Given the description of an element on the screen output the (x, y) to click on. 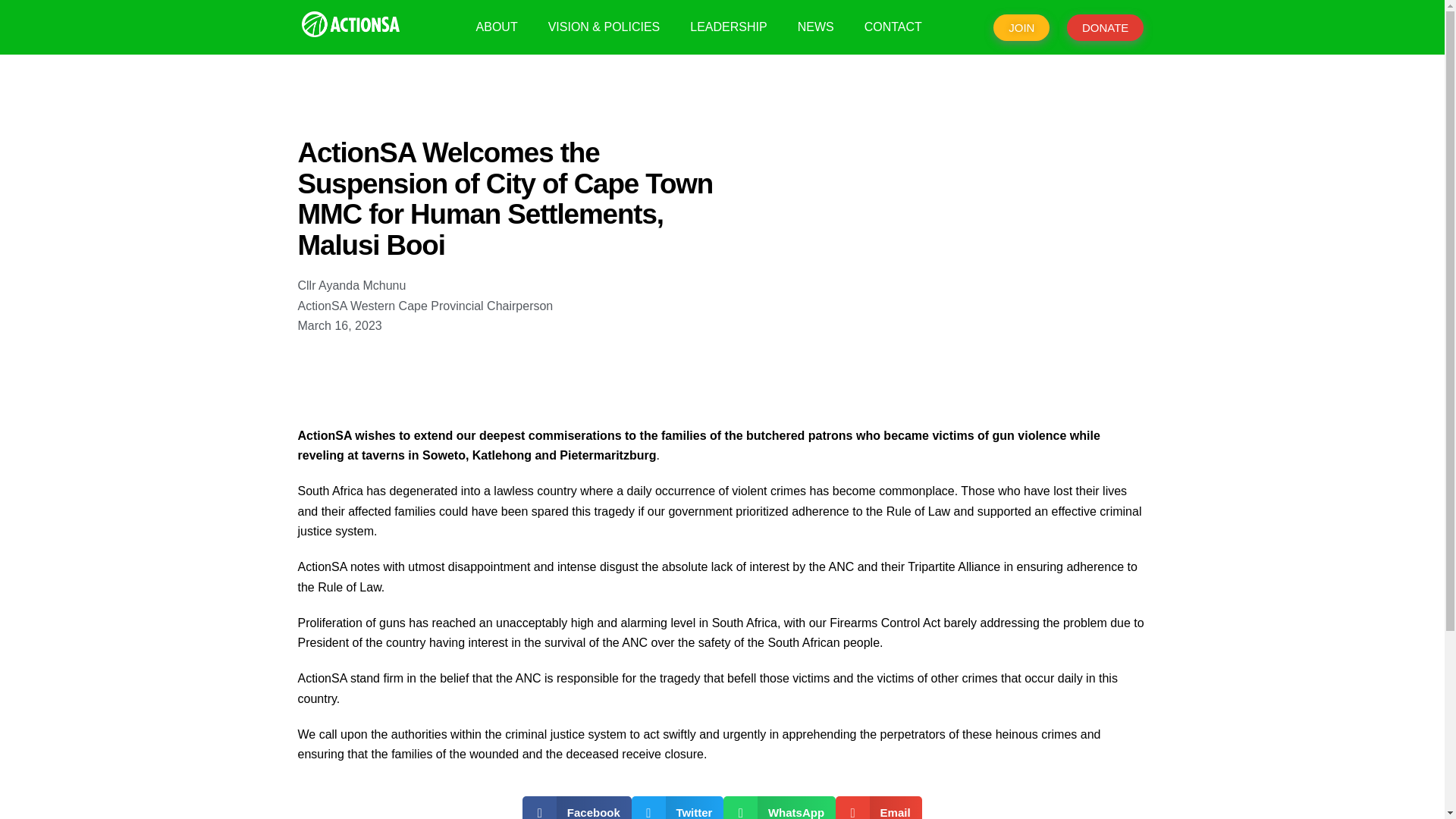
ABOUT (496, 27)
JOIN (1020, 27)
NEWS (815, 27)
DONATE (1104, 27)
CONTACT (892, 27)
LEADERSHIP (728, 27)
